Given the description of an element on the screen output the (x, y) to click on. 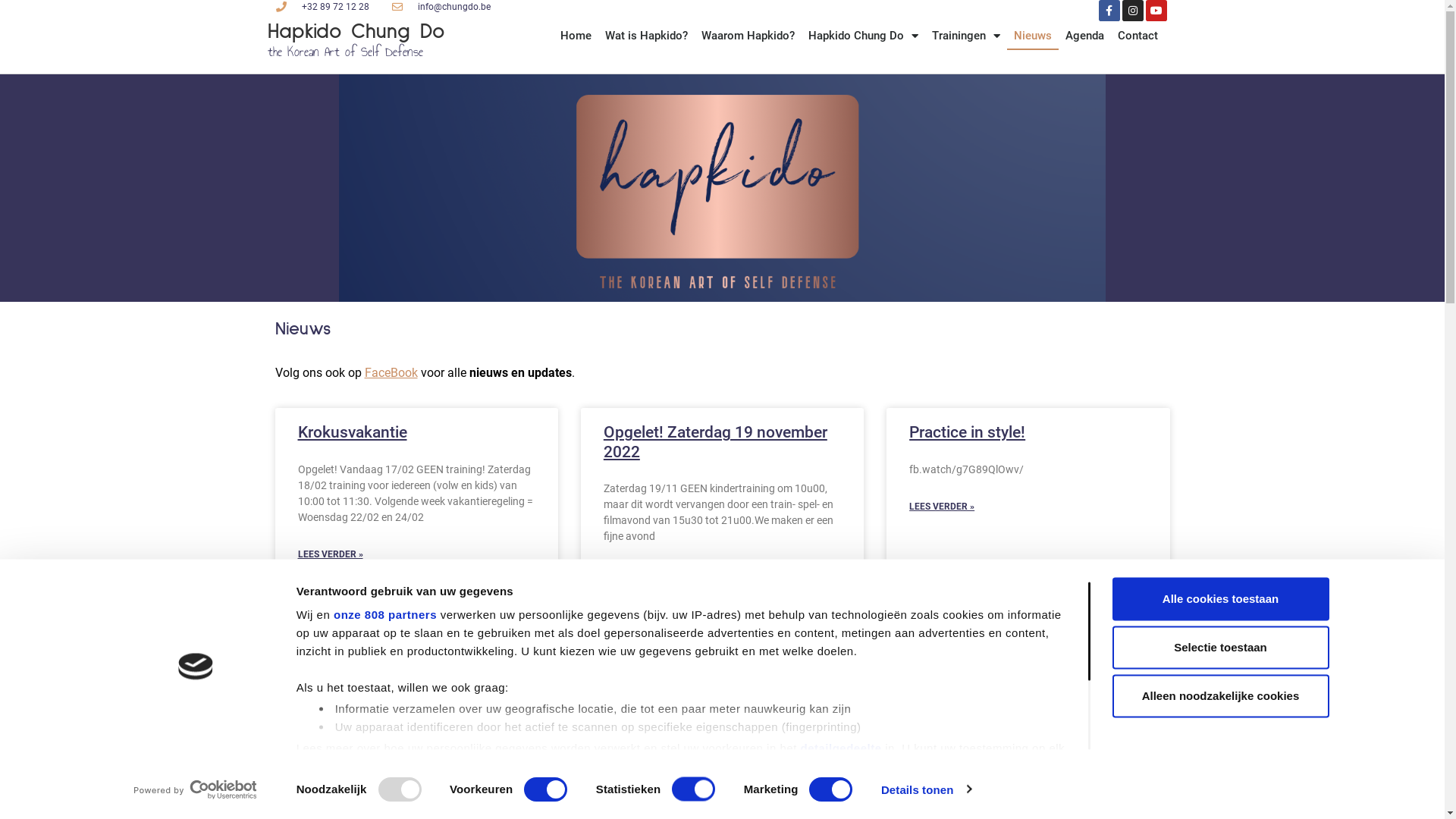
Wat is Hapkido? Element type: text (645, 35)
detailgedeelte Element type: text (840, 746)
Alleen noodzakelijke cookies Element type: text (1219, 696)
Waarom Hapkido? Element type: text (747, 35)
+32 89 72 12 28 Element type: text (321, 6)
Trainingen Element type: text (966, 35)
Agenda Element type: text (1084, 35)
Contact Element type: text (1137, 35)
Nieuws Element type: text (1032, 35)
info@chungdo.be Element type: text (440, 6)
Home Element type: text (575, 35)
Hapkido Chung Do Element type: text (354, 31)
FaceBook Element type: text (390, 372)
Hapkido-demonstratie Antwerpen 01 10 2022 Element type: text (989, 690)
Hapkido Chung Do Element type: text (862, 35)
onze 808 partners Element type: text (384, 614)
Details tonen Element type: text (926, 789)
Selectie toestaan Element type: text (1219, 647)
Practice in style! Element type: text (967, 432)
Opgelet! Zaterdag 19 november 2022 Element type: text (715, 441)
Alle cookies toestaan Element type: text (1219, 599)
Krokusvakantie Element type: text (351, 432)
